Given the description of an element on the screen output the (x, y) to click on. 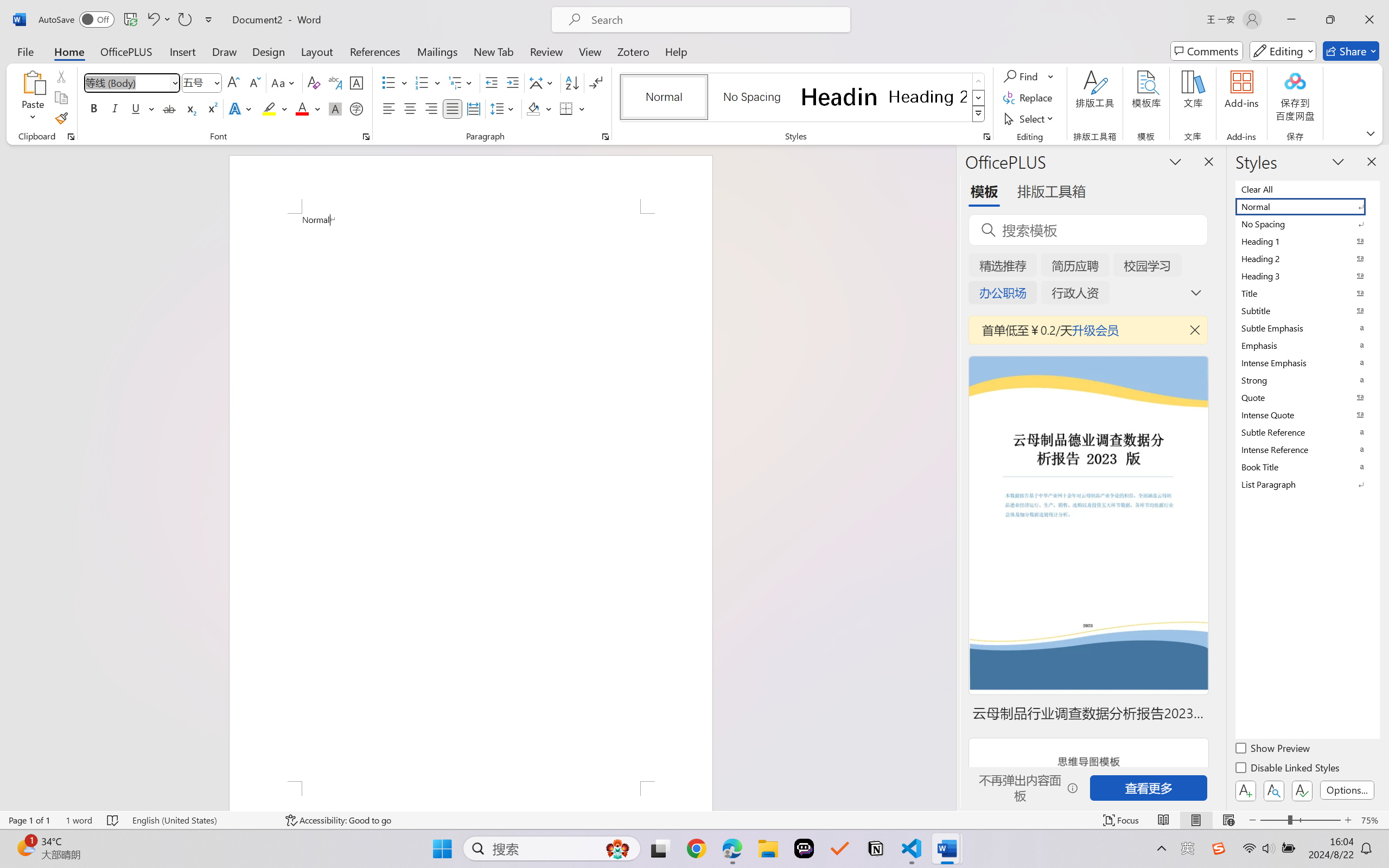
Copy (60, 97)
Text Effects and Typography (241, 108)
Page 1 content (470, 497)
Office Clipboard... (70, 136)
Superscript (210, 108)
Class: Image (1218, 847)
Title (1306, 293)
Class: NetUIImage (978, 114)
Close (1369, 19)
List Paragraph (1306, 484)
Emphasis (1306, 345)
Row up (978, 81)
